Given the description of an element on the screen output the (x, y) to click on. 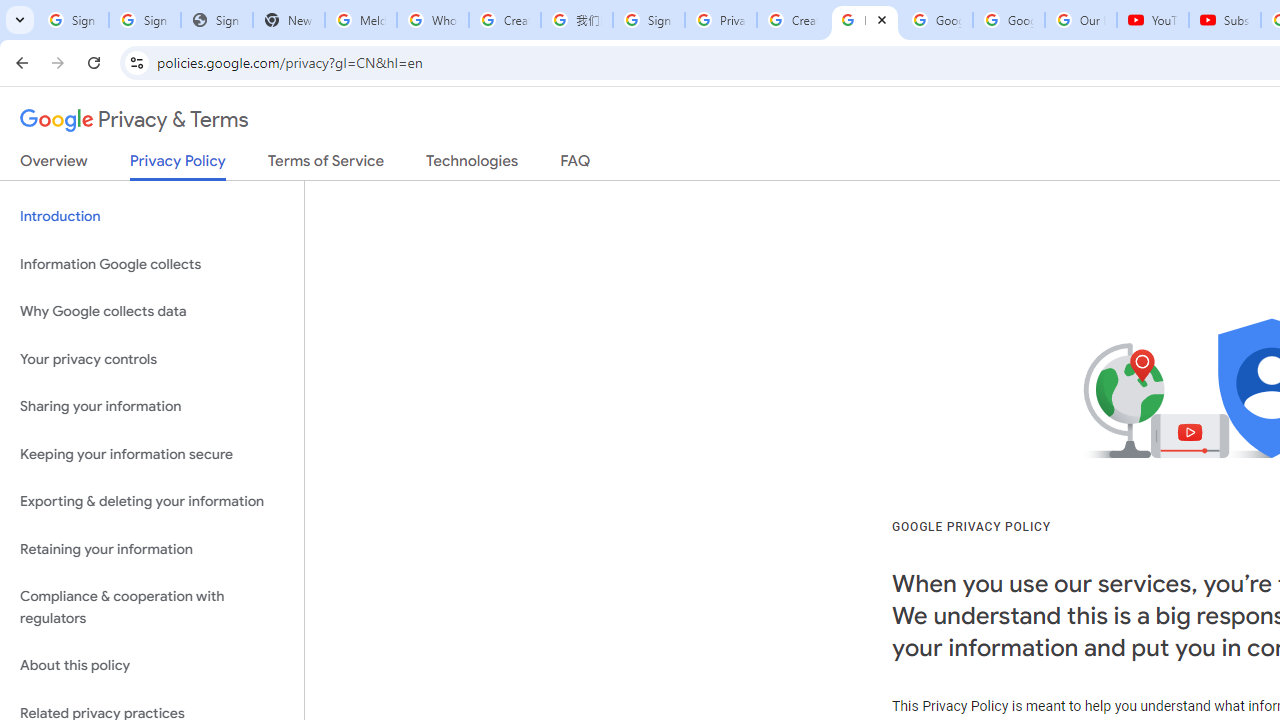
Compliance & cooperation with regulators (152, 607)
Your privacy controls (152, 358)
Keeping your information secure (152, 453)
Sharing your information (152, 407)
YouTube (1153, 20)
Sign in - Google Accounts (144, 20)
Sign in - Google Accounts (72, 20)
Why Google collects data (152, 312)
About this policy (152, 666)
Exporting & deleting your information (152, 502)
Sign In - USA TODAY (216, 20)
Retaining your information (152, 548)
Technologies (472, 165)
